Given the description of an element on the screen output the (x, y) to click on. 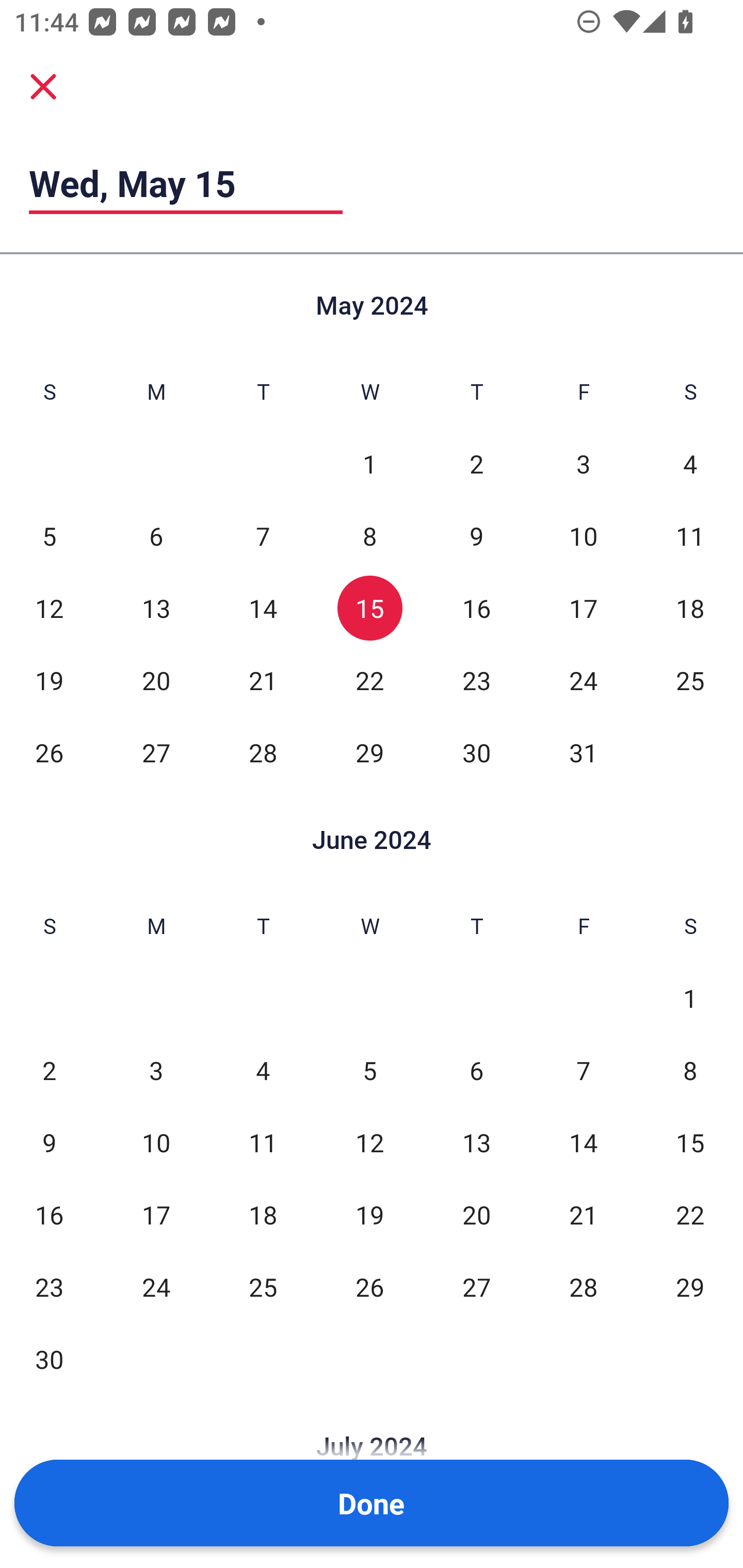
Cancel (43, 86)
Wed, May 15 (185, 182)
1 Wed, May 1, Not Selected (369, 464)
2 Thu, May 2, Not Selected (476, 464)
3 Fri, May 3, Not Selected (583, 464)
4 Sat, May 4, Not Selected (690, 464)
5 Sun, May 5, Not Selected (49, 536)
6 Mon, May 6, Not Selected (156, 536)
7 Tue, May 7, Not Selected (263, 536)
8 Wed, May 8, Not Selected (369, 536)
9 Thu, May 9, Not Selected (476, 536)
10 Fri, May 10, Not Selected (583, 536)
11 Sat, May 11, Not Selected (690, 536)
12 Sun, May 12, Not Selected (49, 608)
13 Mon, May 13, Not Selected (156, 608)
14 Tue, May 14, Not Selected (263, 608)
15 Wed, May 15, Selected (369, 608)
16 Thu, May 16, Not Selected (476, 608)
17 Fri, May 17, Not Selected (583, 608)
18 Sat, May 18, Not Selected (690, 608)
19 Sun, May 19, Not Selected (49, 680)
20 Mon, May 20, Not Selected (156, 680)
21 Tue, May 21, Not Selected (263, 680)
22 Wed, May 22, Not Selected (369, 680)
23 Thu, May 23, Not Selected (476, 680)
24 Fri, May 24, Not Selected (583, 680)
25 Sat, May 25, Not Selected (690, 680)
26 Sun, May 26, Not Selected (49, 752)
27 Mon, May 27, Not Selected (156, 752)
28 Tue, May 28, Not Selected (263, 752)
29 Wed, May 29, Not Selected (369, 752)
30 Thu, May 30, Not Selected (476, 752)
31 Fri, May 31, Not Selected (583, 752)
1 Sat, Jun 1, Not Selected (690, 997)
2 Sun, Jun 2, Not Selected (49, 1070)
3 Mon, Jun 3, Not Selected (156, 1070)
4 Tue, Jun 4, Not Selected (263, 1070)
5 Wed, Jun 5, Not Selected (369, 1070)
6 Thu, Jun 6, Not Selected (476, 1070)
7 Fri, Jun 7, Not Selected (583, 1070)
8 Sat, Jun 8, Not Selected (690, 1070)
9 Sun, Jun 9, Not Selected (49, 1143)
10 Mon, Jun 10, Not Selected (156, 1143)
11 Tue, Jun 11, Not Selected (263, 1143)
12 Wed, Jun 12, Not Selected (369, 1143)
13 Thu, Jun 13, Not Selected (476, 1143)
14 Fri, Jun 14, Not Selected (583, 1143)
15 Sat, Jun 15, Not Selected (690, 1143)
16 Sun, Jun 16, Not Selected (49, 1215)
17 Mon, Jun 17, Not Selected (156, 1215)
